Given the description of an element on the screen output the (x, y) to click on. 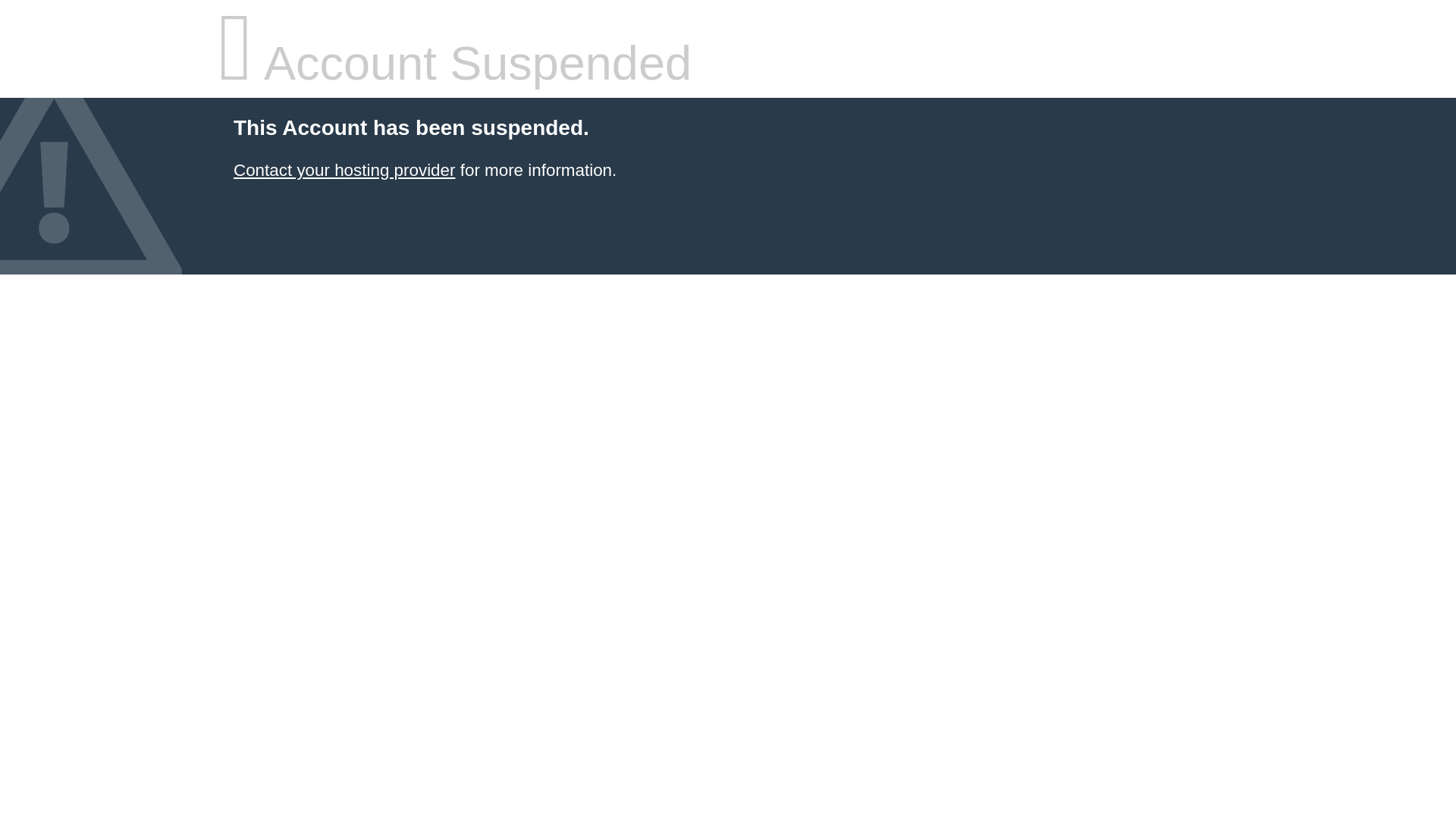
Contact your hosting provider (343, 169)
